Given the description of an element on the screen output the (x, y) to click on. 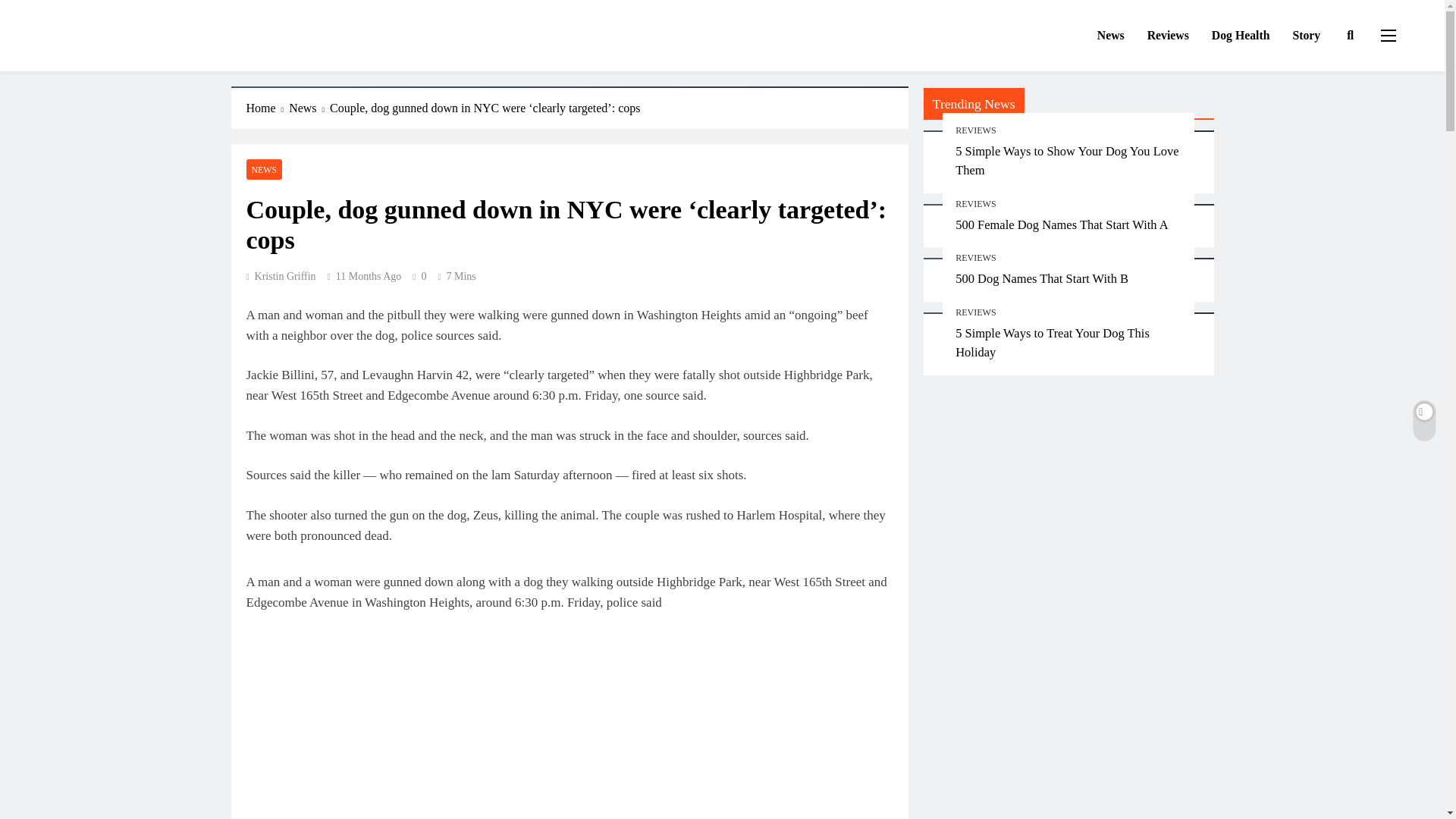
500 Dog Names That Start With B (1041, 278)
News (309, 108)
NEWS (264, 168)
Reviews (1167, 35)
11 Months Ago (368, 276)
Dog Health (1240, 35)
REVIEWS (975, 257)
DogForms (94, 52)
500 Female Dog Names That Start With A (1062, 224)
Kristin Griffin (280, 276)
